Given the description of an element on the screen output the (x, y) to click on. 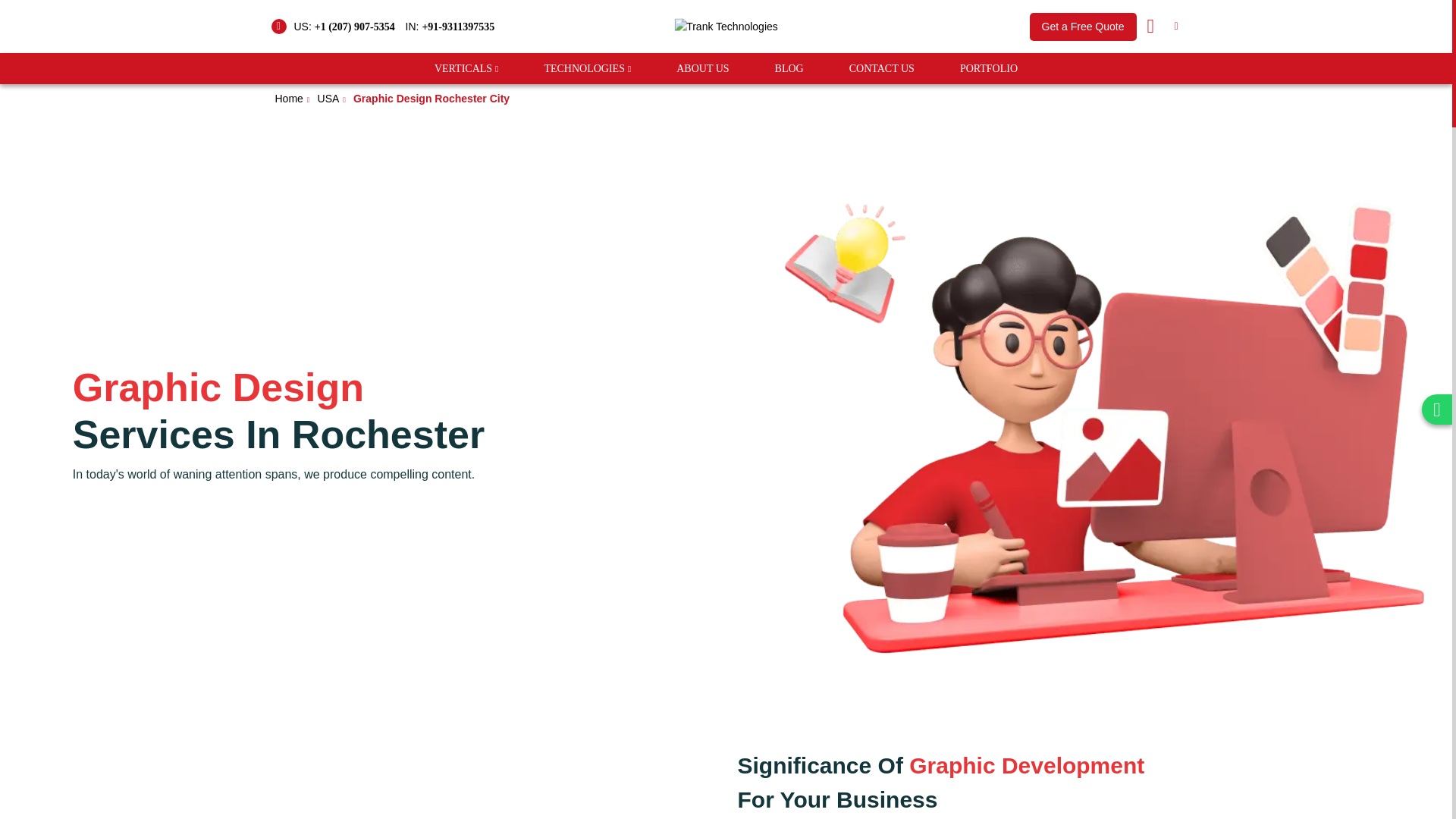
Get a Free Quote (1083, 26)
TECHNOLOGIES (583, 68)
VERTICALS (462, 68)
Get a Free Quote (1083, 26)
